Given the description of an element on the screen output the (x, y) to click on. 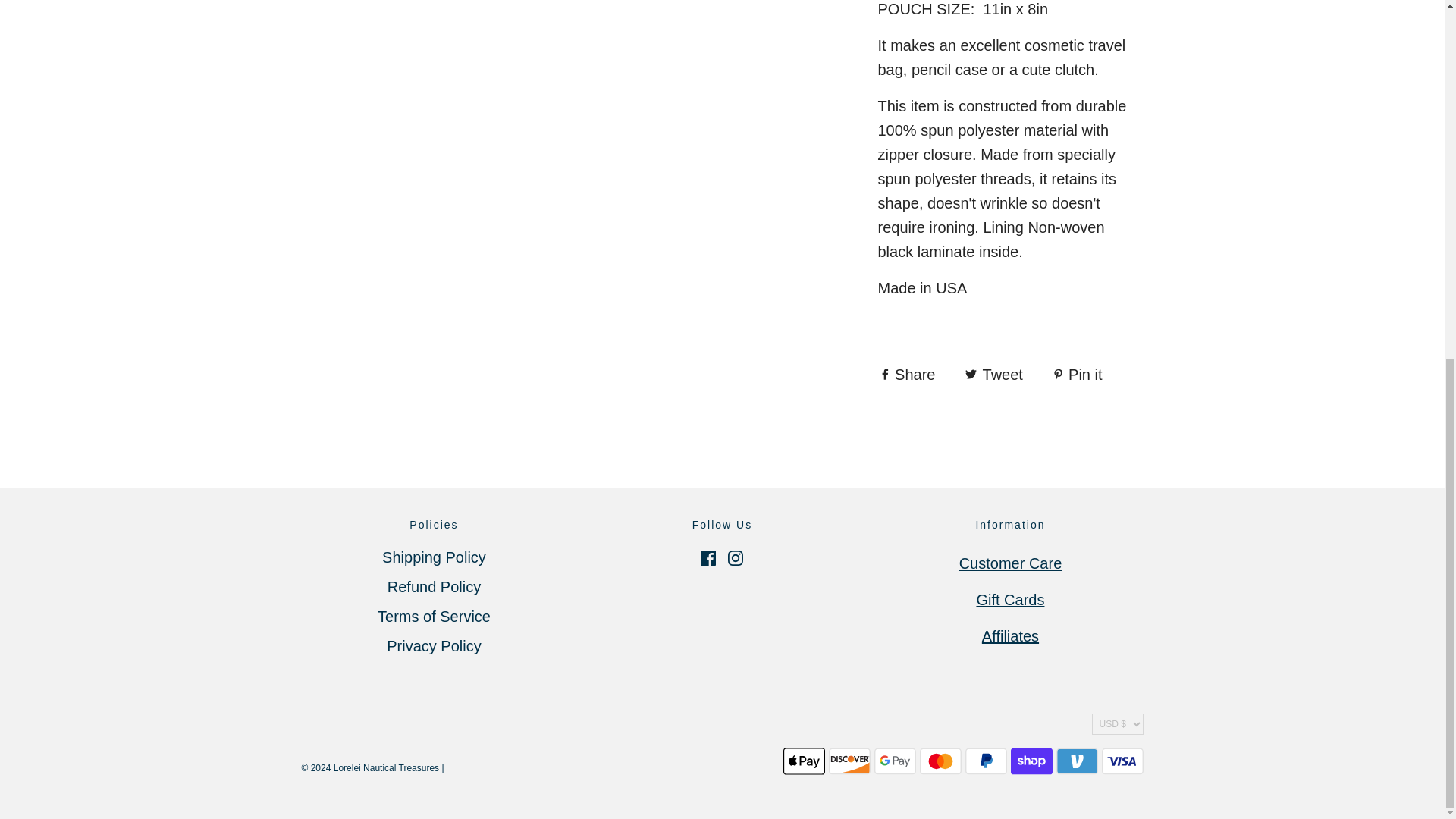
Visa (1121, 760)
Google Pay (894, 760)
Facebook icon (708, 557)
Venmo (1076, 760)
Lorelei Nautical Treasures - Gift Card (1009, 598)
Shop Pay (1030, 760)
PayPal (984, 760)
Instagram icon (735, 557)
Apple Pay (803, 760)
Discover (848, 760)
Mastercard (939, 760)
